Given the description of an element on the screen output the (x, y) to click on. 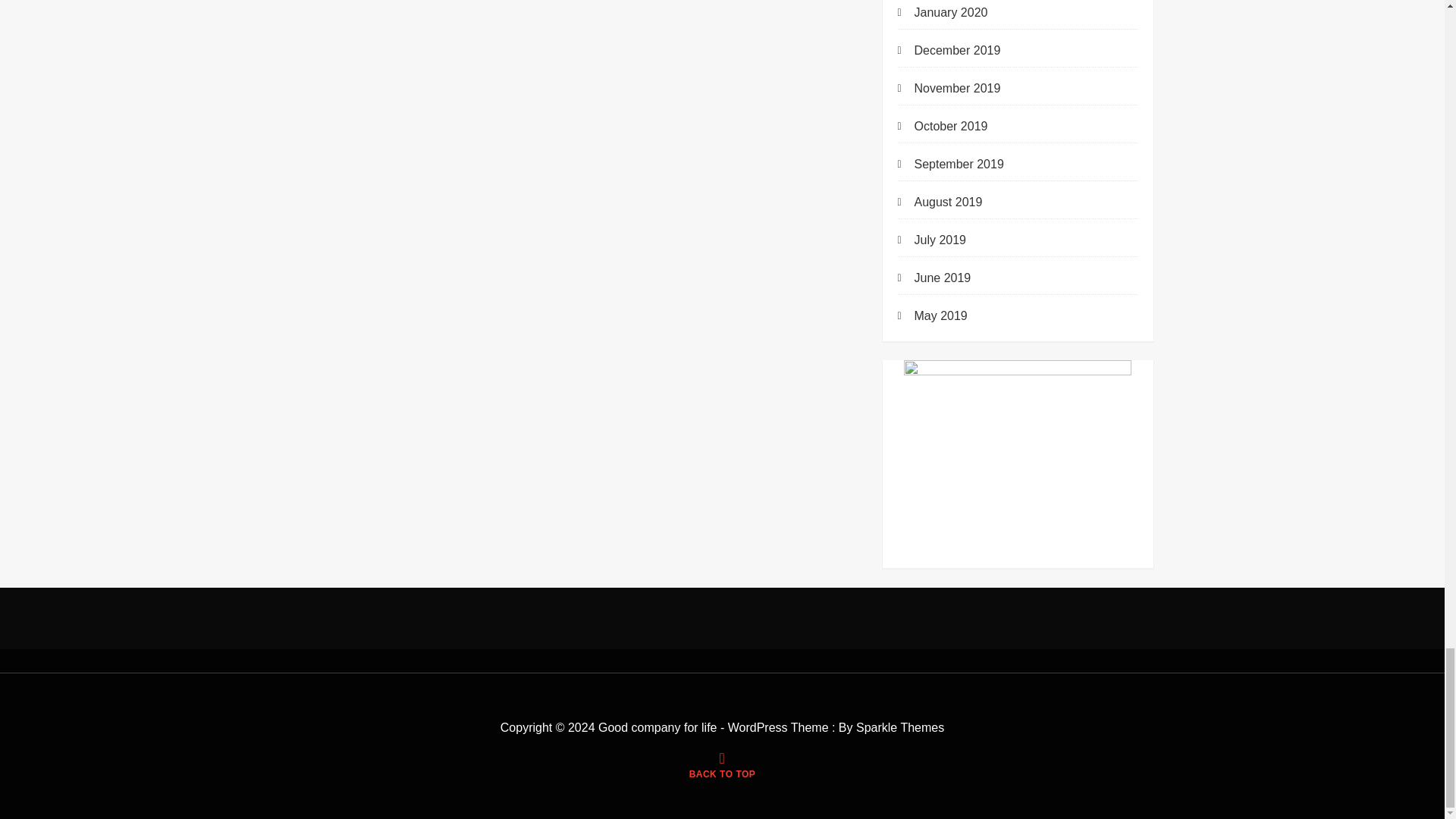
BACK TO TOP (721, 766)
